Given the description of an element on the screen output the (x, y) to click on. 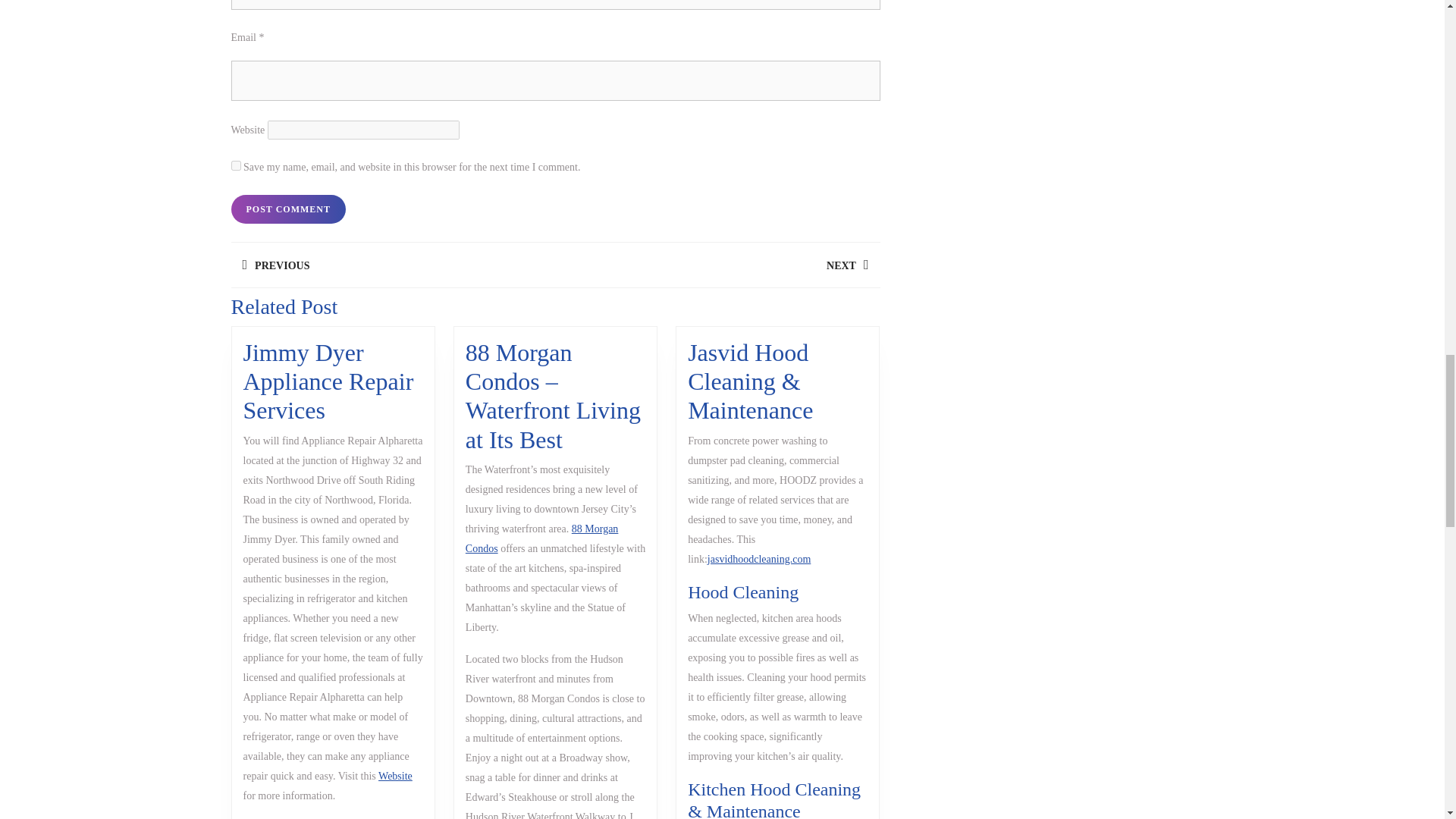
Post Comment (287, 208)
Post Comment (392, 264)
88 Morgan Condos (716, 264)
yes (287, 208)
jasvidhoodcleaning.com (541, 538)
Website (235, 165)
